Given the description of an element on the screen output the (x, y) to click on. 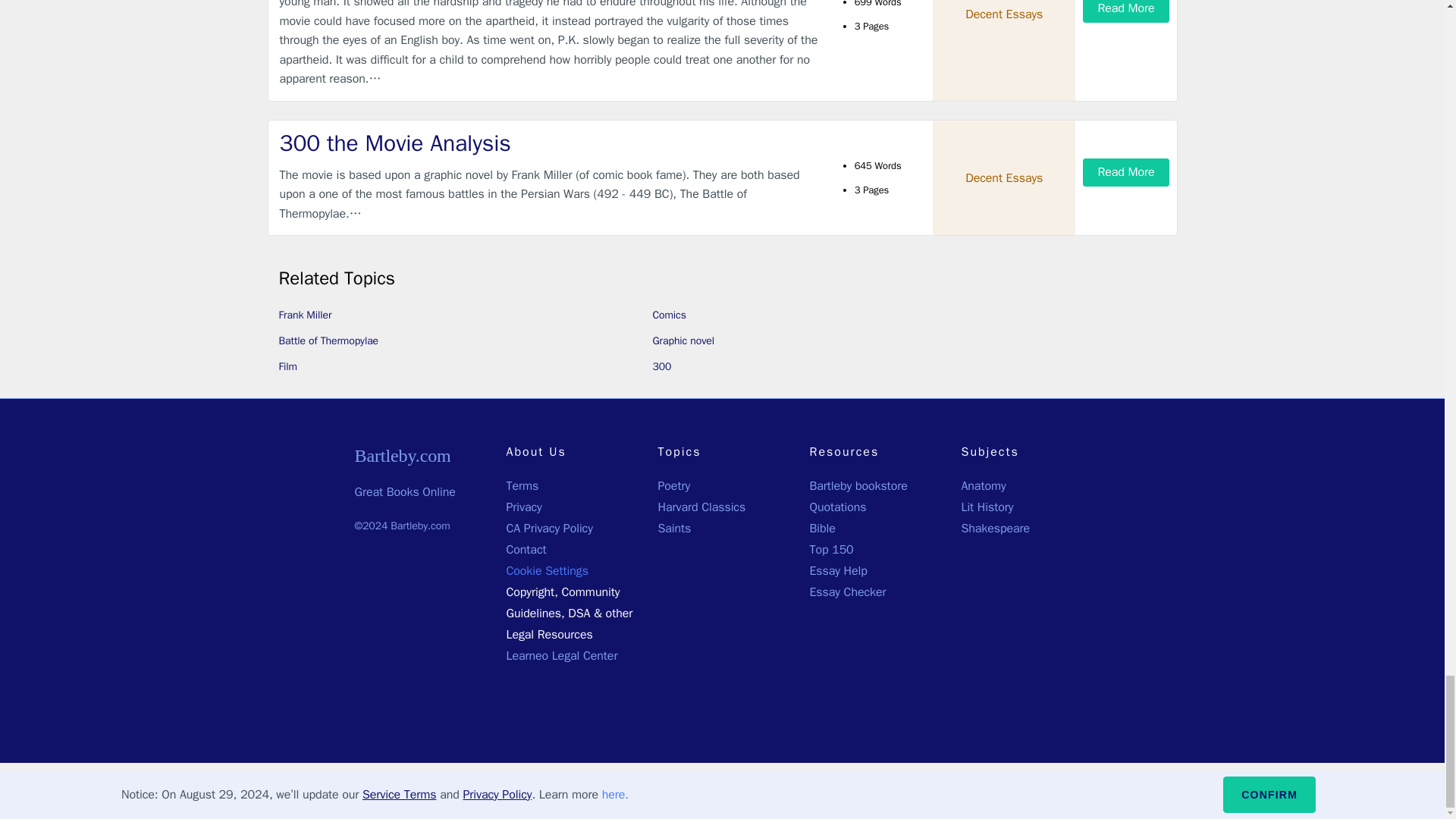
Frank Miller (305, 314)
300 (661, 366)
Comics (668, 314)
Battle of Thermopylae (328, 340)
Graphic novel (682, 340)
Film (288, 366)
